Given the description of an element on the screen output the (x, y) to click on. 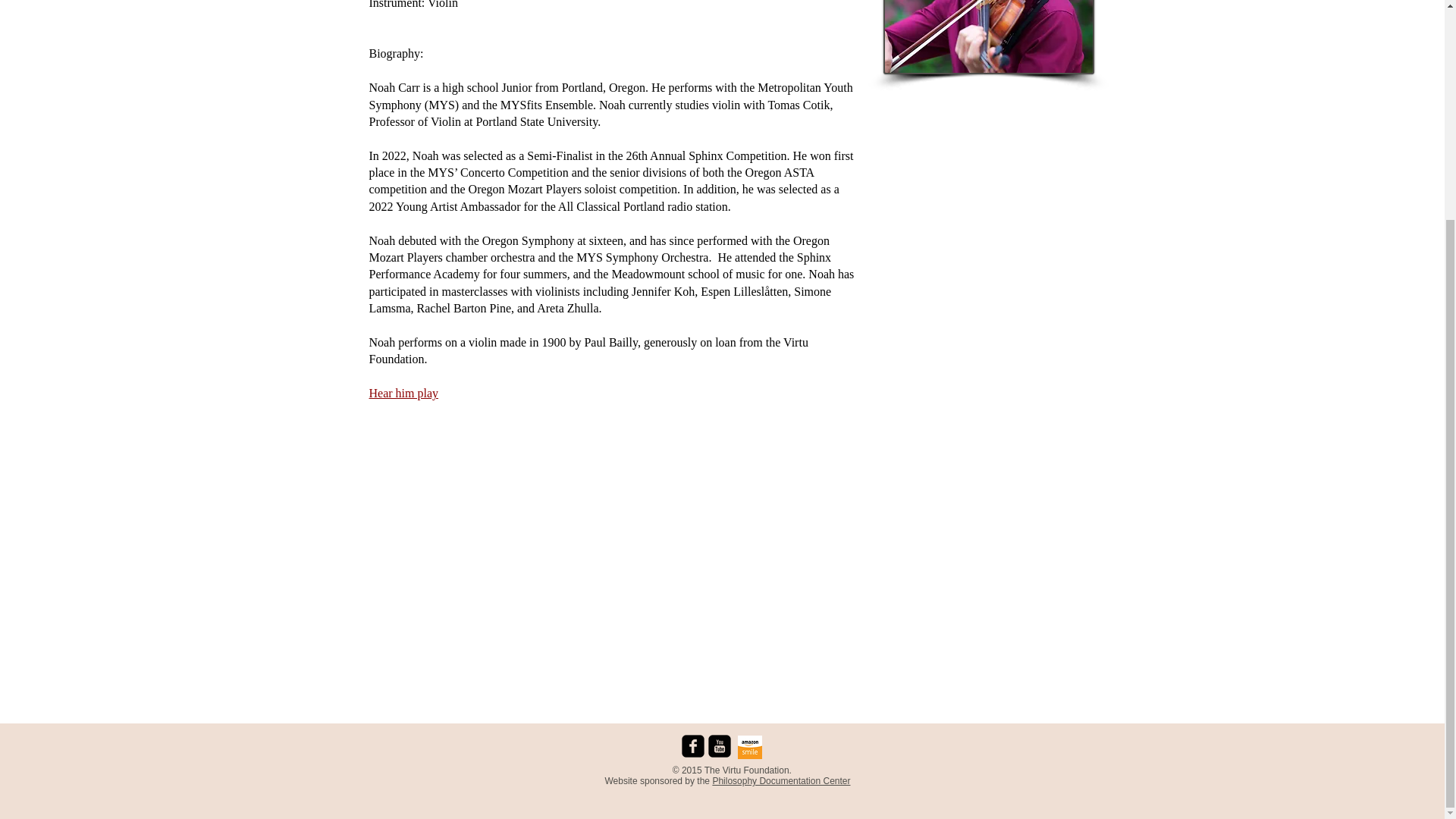
Hear him play (403, 392)
NygelWitherspoon.gif (987, 37)
Philosophy Documentation Center (780, 780)
